Given the description of an element on the screen output the (x, y) to click on. 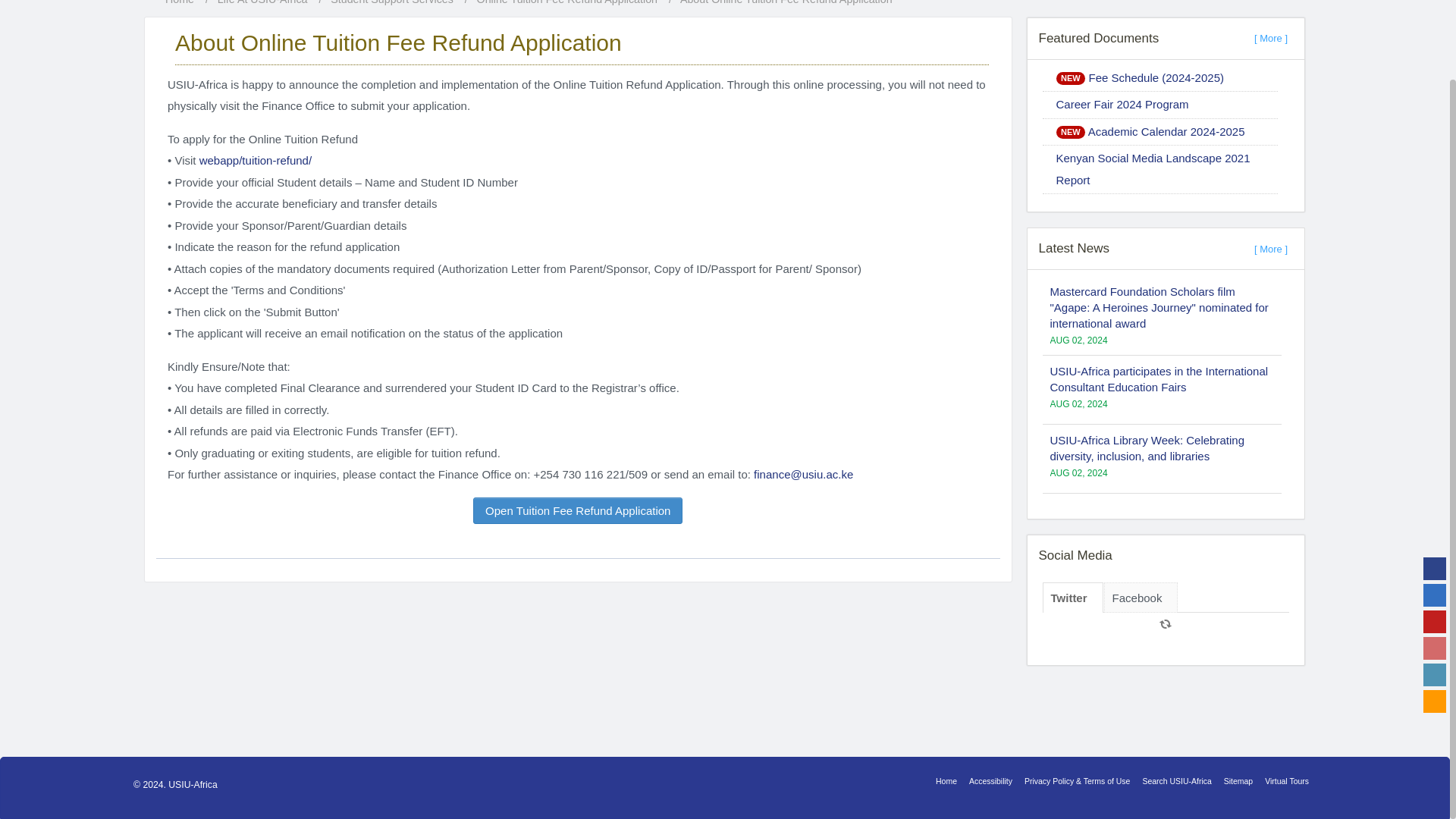
AUG 02, 2024 (1077, 626)
AUG 02, 2024 (1077, 339)
Instagram (1434, 559)
X (1434, 507)
Talk to us (1434, 612)
Facebook (1434, 480)
YouTube (1434, 533)
AUG 02, 2024 (1077, 525)
AUG 02, 2024 (1077, 674)
AUG 02, 2024 (1077, 472)
AUG 02, 2024 (1077, 403)
LinkedIn (1434, 586)
